Given the description of an element on the screen output the (x, y) to click on. 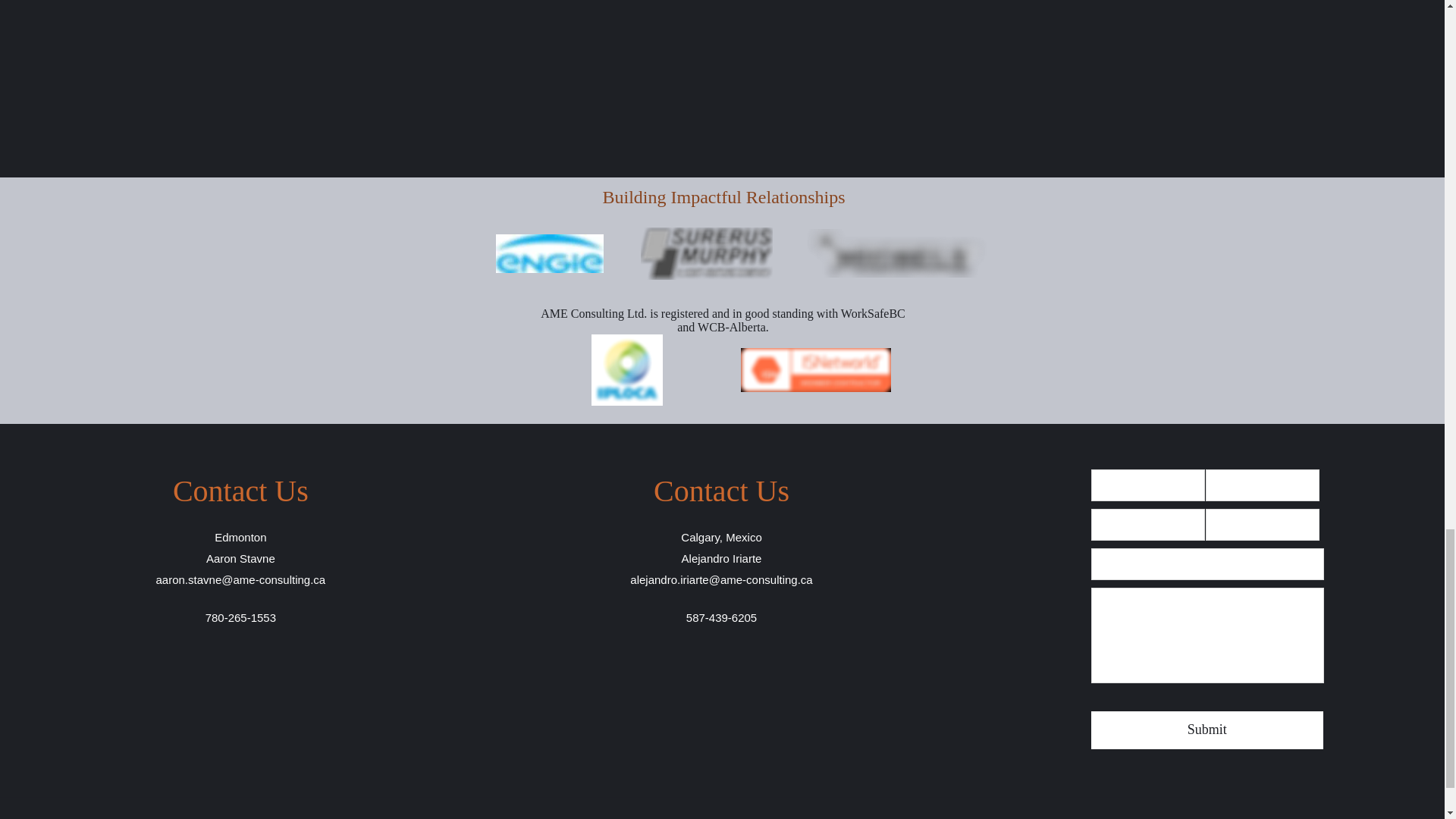
Submit (1206, 730)
